Given the description of an element on the screen output the (x, y) to click on. 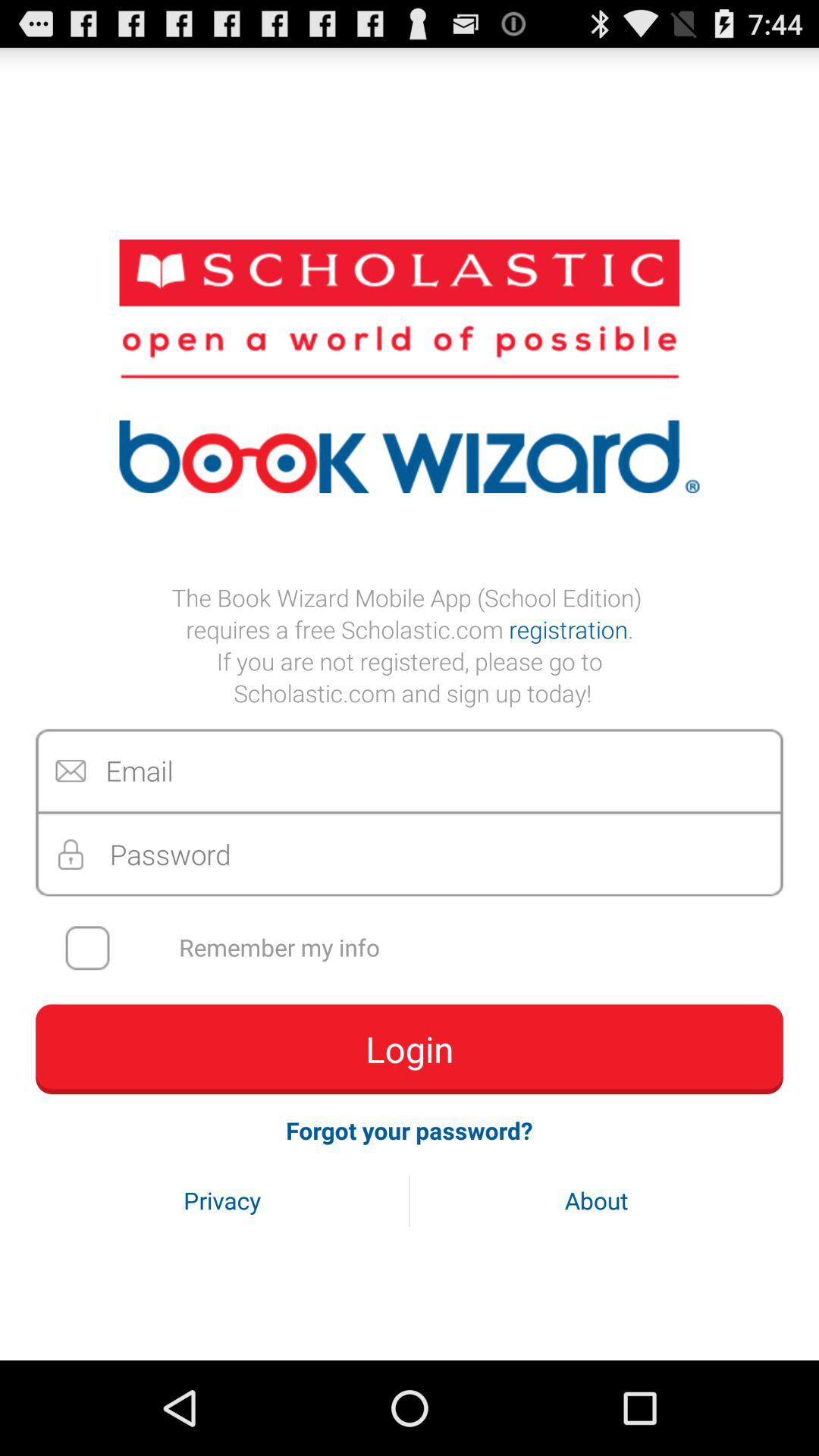
enter email address (409, 770)
